Given the description of an element on the screen output the (x, y) to click on. 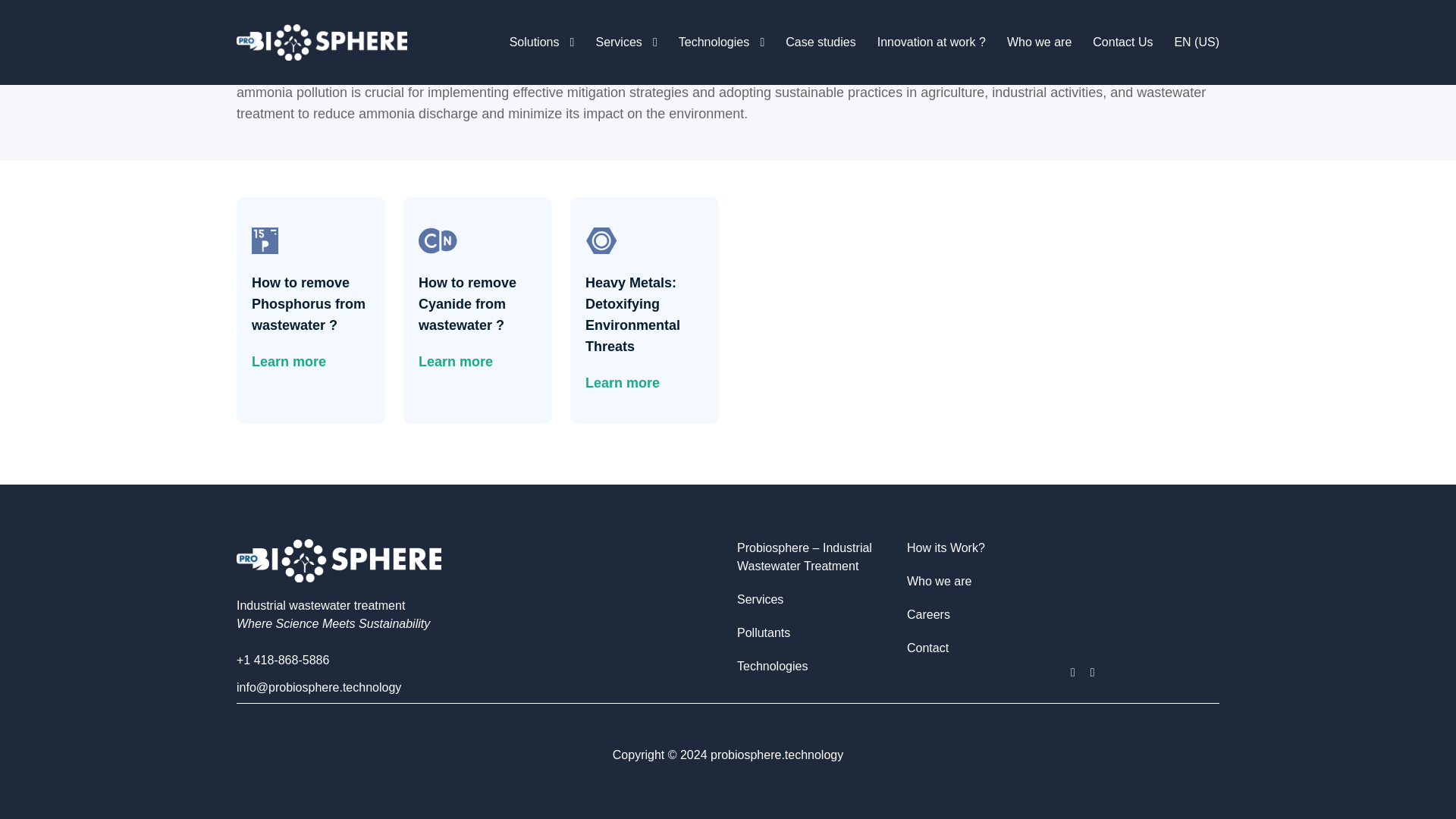
How to remove Phosphorus from wastewater ? (310, 303)
Learn more (456, 361)
Pollutants (763, 633)
Learn more (622, 382)
Learn more (288, 361)
How to remove Cyanide from wastewater ? (478, 303)
How its Work? (946, 547)
Heavy Metals: Detoxifying Environmental Threats (644, 314)
How to remove Amonia from wastewater ? 2 (974, 13)
Technologies (772, 666)
